Given the description of an element on the screen output the (x, y) to click on. 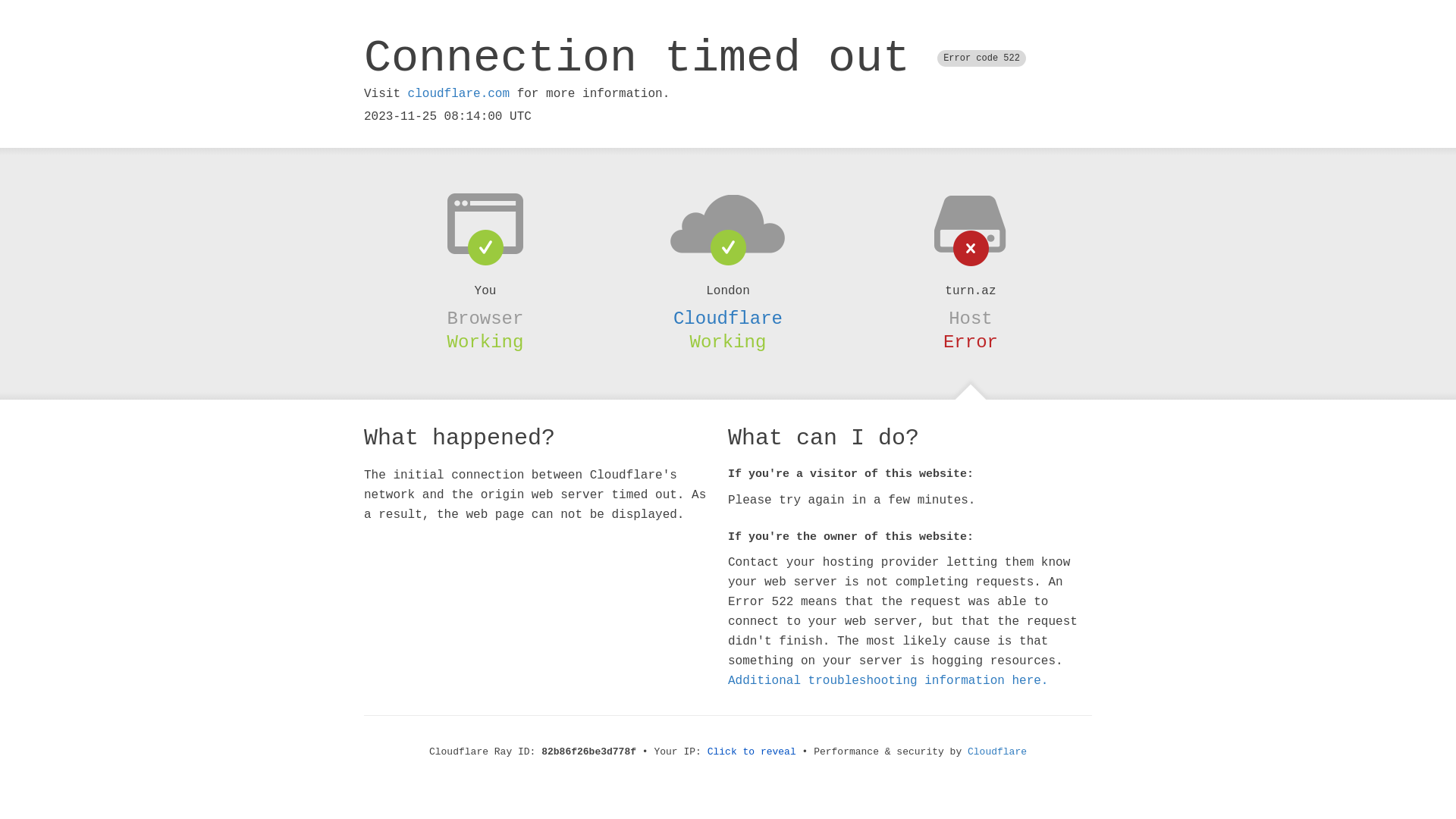
Additional troubleshooting information here. Element type: text (888, 680)
cloudflare.com Element type: text (458, 93)
Cloudflare Element type: text (996, 751)
Click to reveal Element type: text (751, 751)
Cloudflare Element type: text (727, 318)
